Given the description of an element on the screen output the (x, y) to click on. 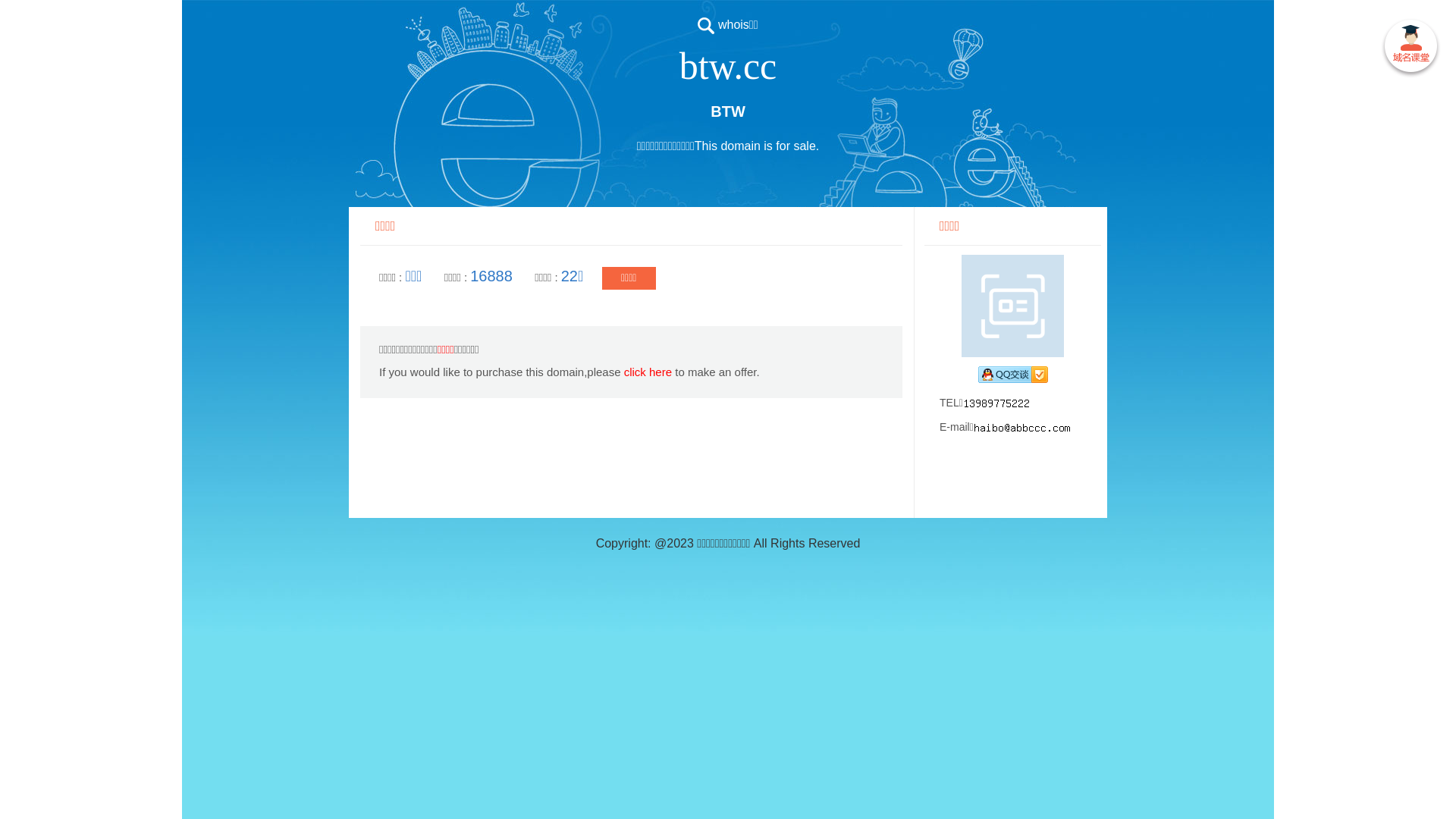
click here Element type: text (647, 371)
  Element type: text (1410, 48)
